Given the description of an element on the screen output the (x, y) to click on. 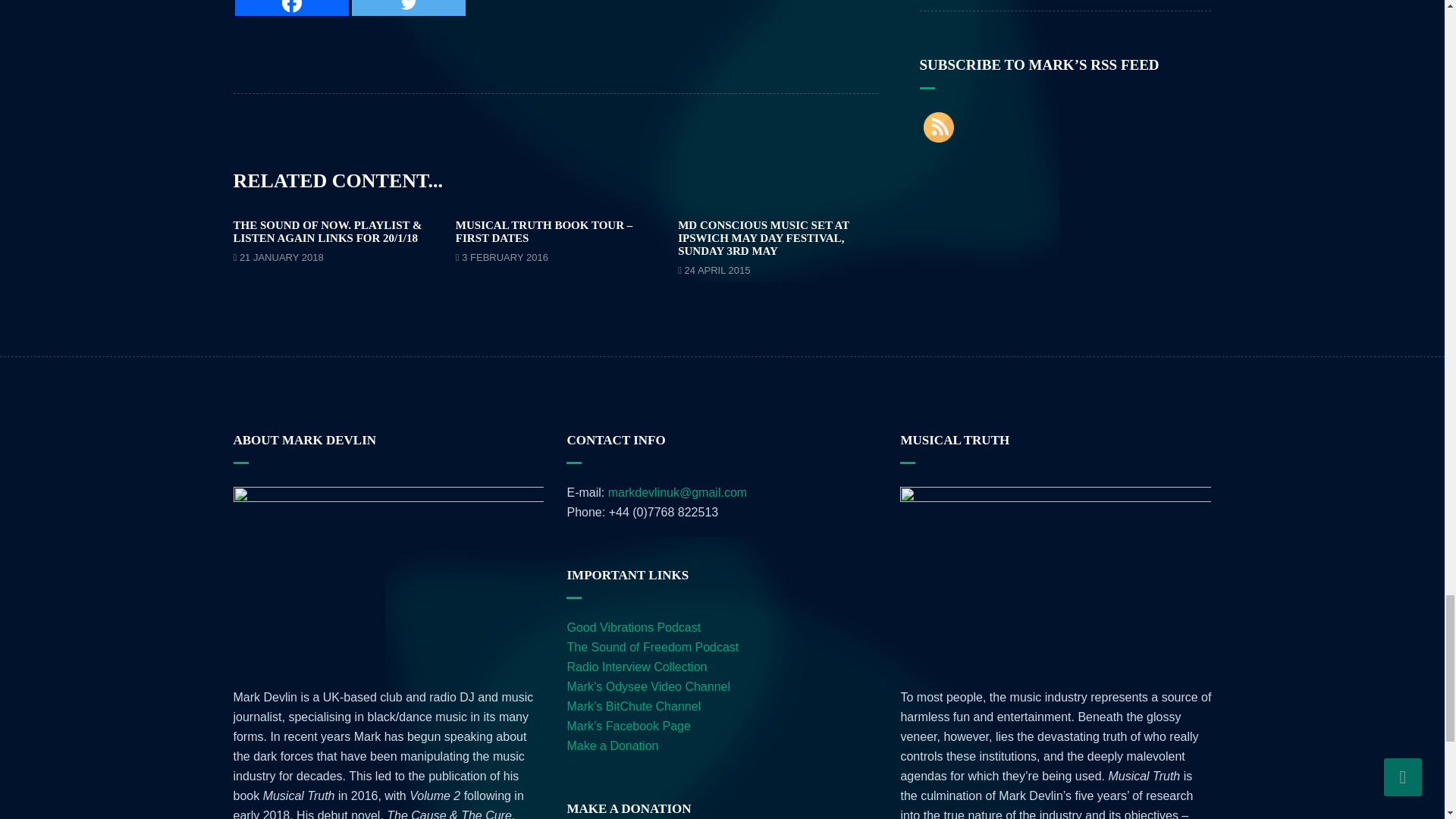
Twitter (408, 7)
Facebook (291, 7)
